Given the description of an element on the screen output the (x, y) to click on. 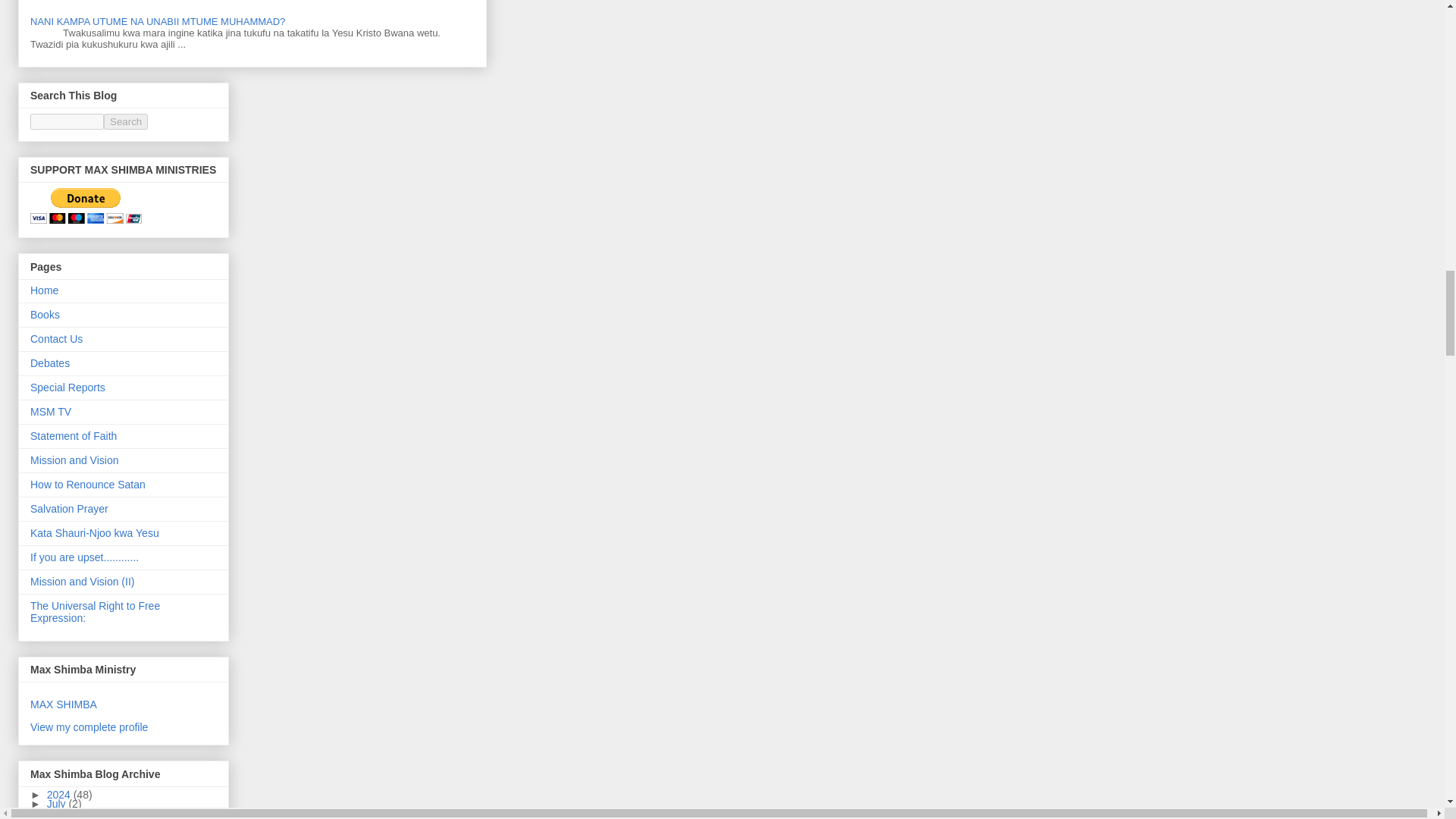
Contact Us (56, 338)
Salvation Prayer (68, 508)
NANI KAMPA UTUME NA UNABII MTUME MUHAMMAD? (157, 21)
Mission and Vision (73, 460)
MSM TV (50, 411)
Search (125, 121)
If you are upset............ (84, 557)
Statement of Faith (73, 435)
Special Reports (67, 387)
Kata Shauri-Njoo kwa Yesu (94, 532)
Debates (49, 363)
Home (44, 290)
The Universal Right to Free Expression: (95, 611)
Search (125, 121)
Books (44, 314)
